Given the description of an element on the screen output the (x, y) to click on. 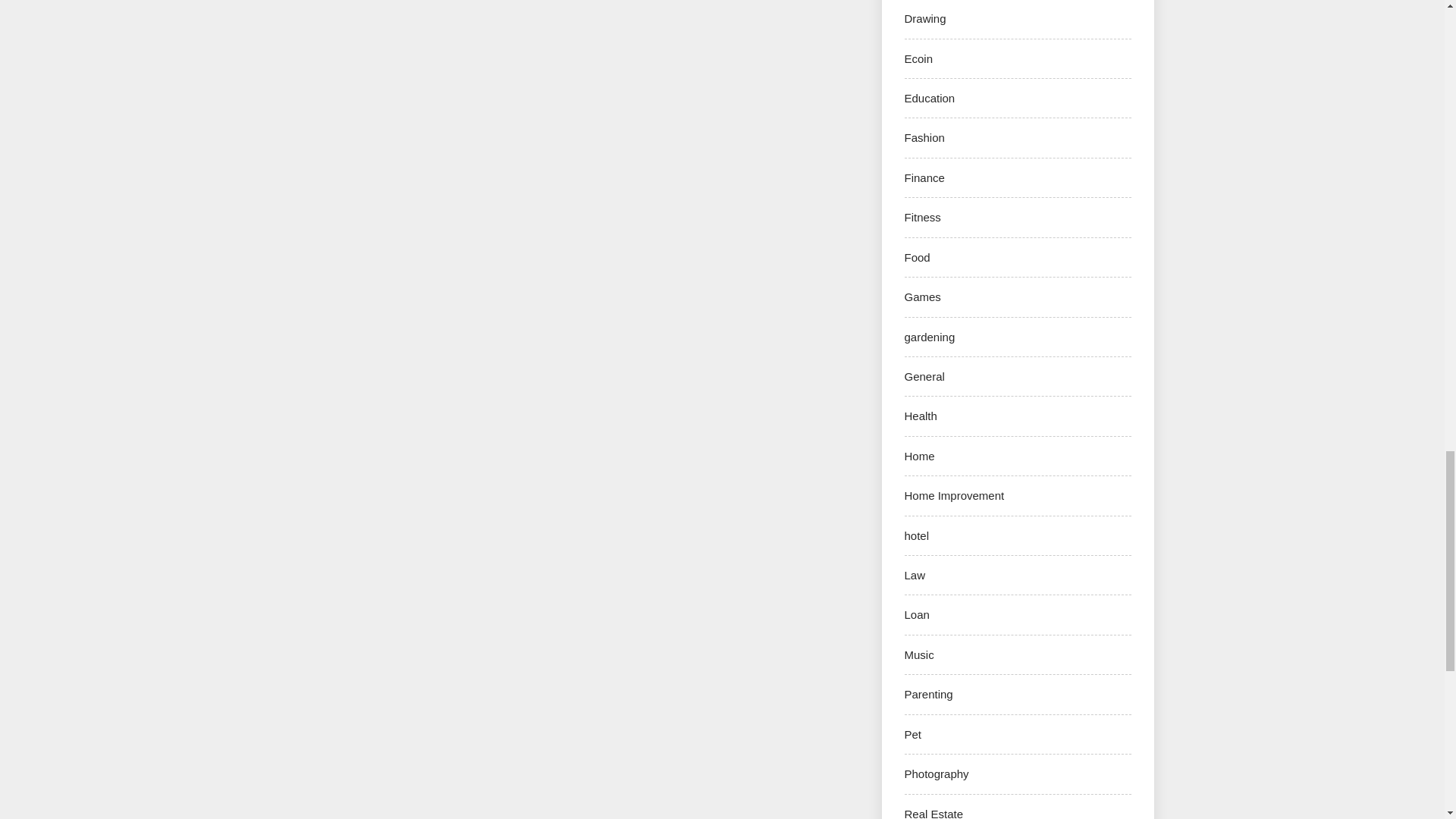
Finance (923, 177)
Education (929, 97)
Ecoin (918, 58)
Fitness (922, 216)
Games (922, 296)
Drawing (924, 18)
Food (917, 256)
Fashion (923, 137)
